Given the description of an element on the screen output the (x, y) to click on. 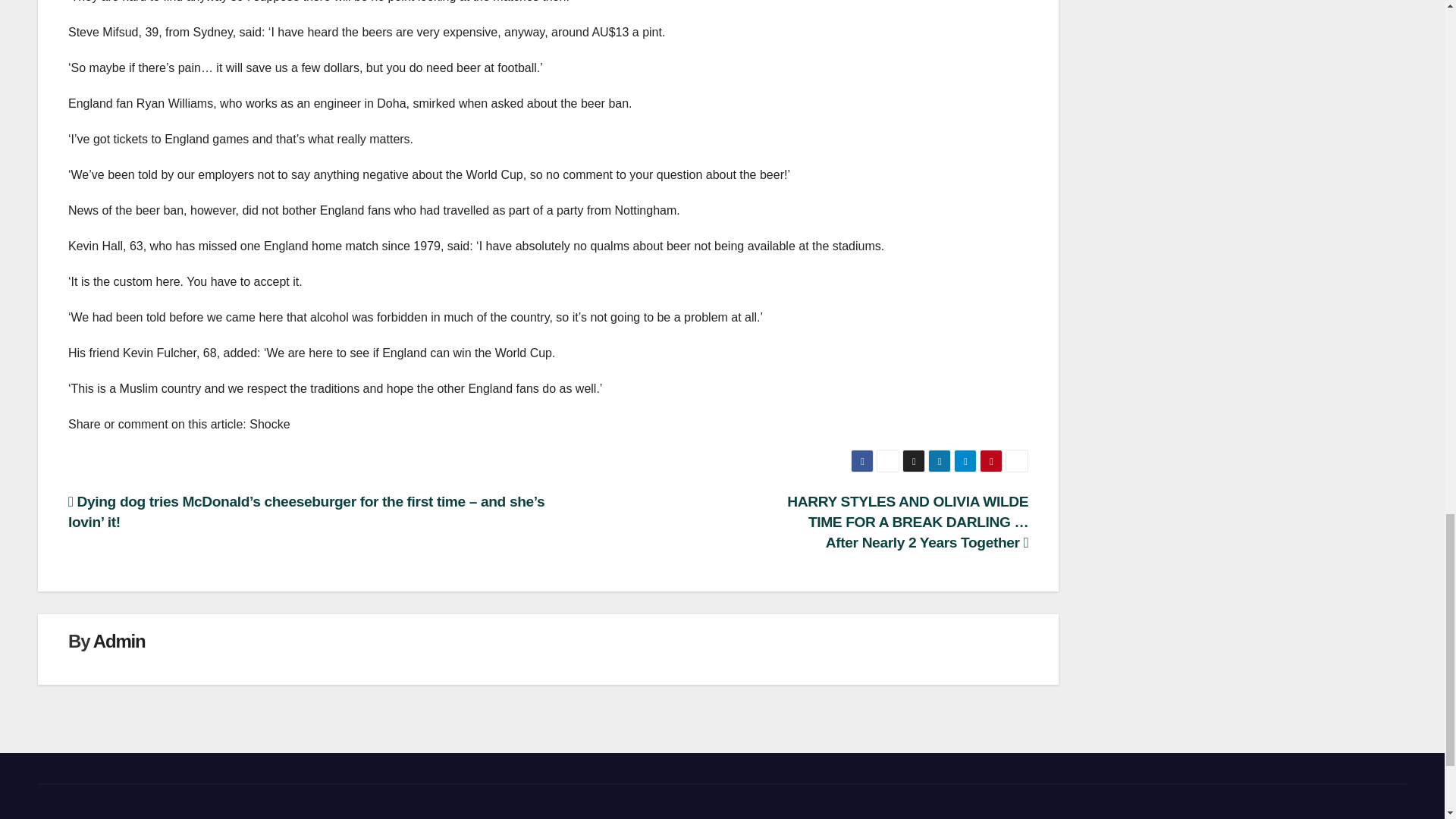
Admin (119, 640)
